Given the description of an element on the screen output the (x, y) to click on. 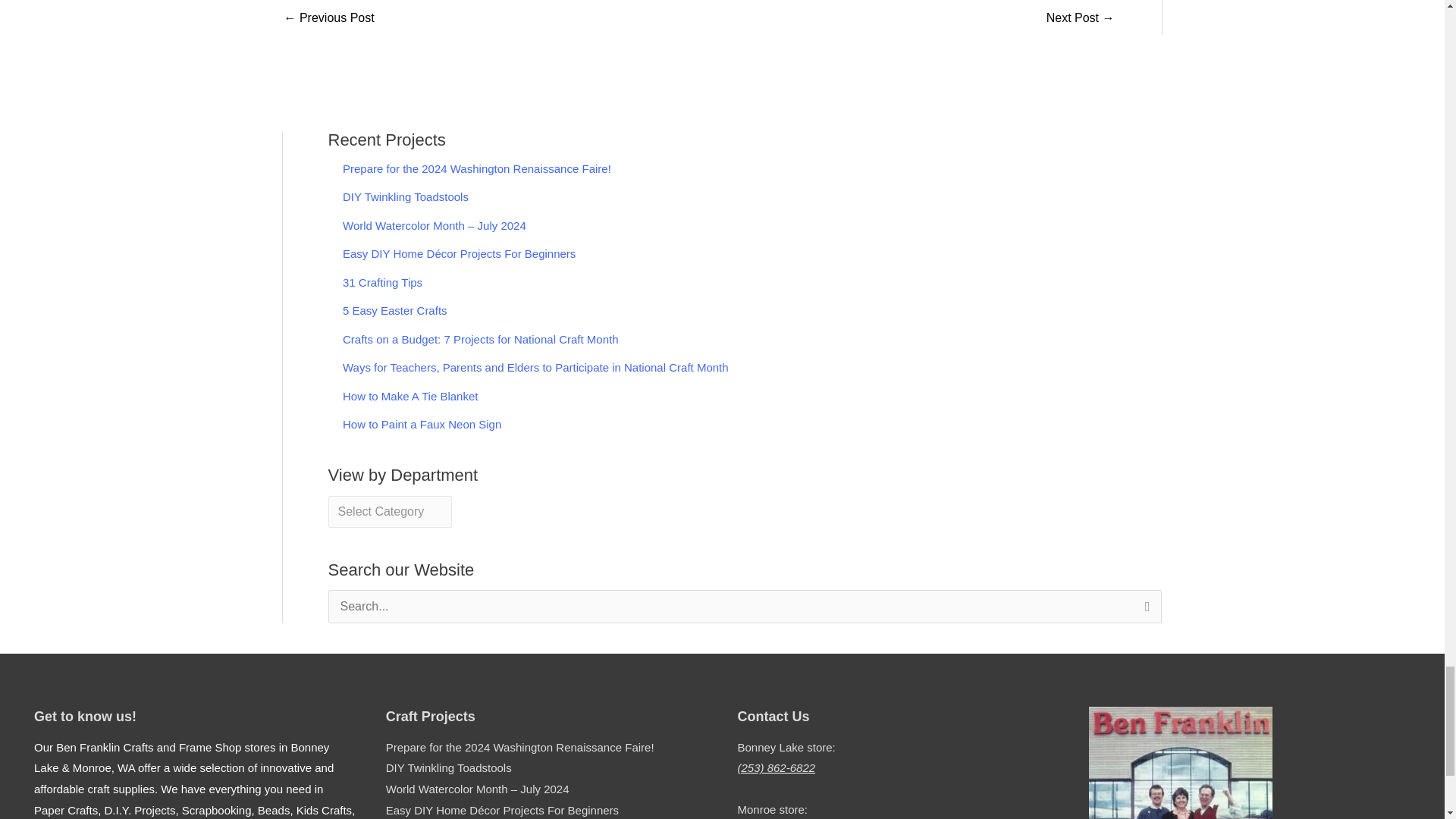
DIY Valentine Red Truck Plaque (1080, 18)
